Given the description of an element on the screen output the (x, y) to click on. 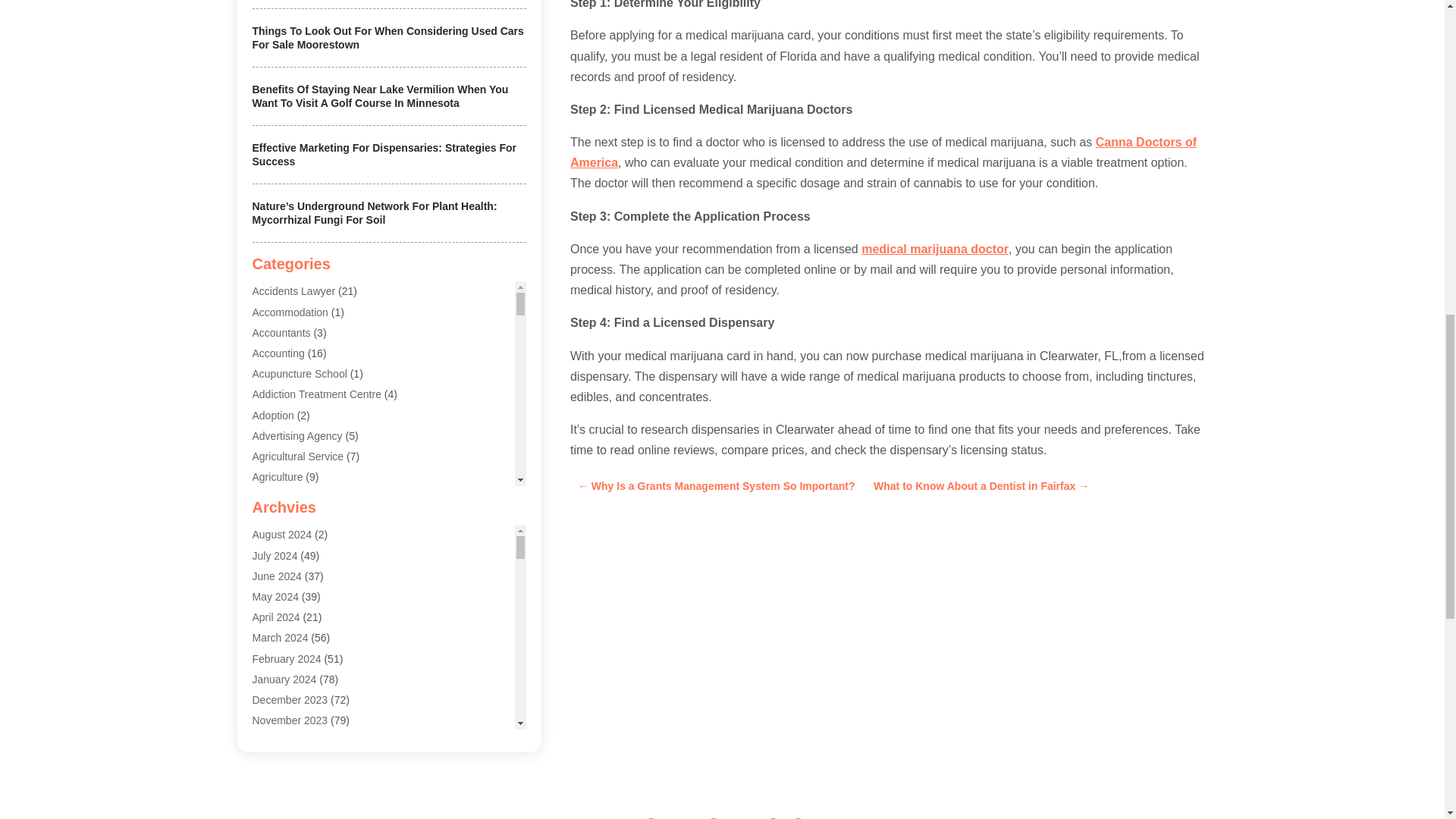
Accidents Lawyer (292, 291)
Acupuncture School (298, 373)
Accountants (280, 332)
Advertising Agency (296, 435)
Accounting (277, 353)
Accommodation (289, 312)
Adoption (272, 415)
Effective Marketing For Dispensaries: Strategies For Success (383, 154)
Addiction Treatment Centre (315, 394)
Agronomy (275, 497)
Air Conditioner (286, 539)
Agricultural Service (297, 456)
Agriculture (276, 476)
